Given the description of an element on the screen output the (x, y) to click on. 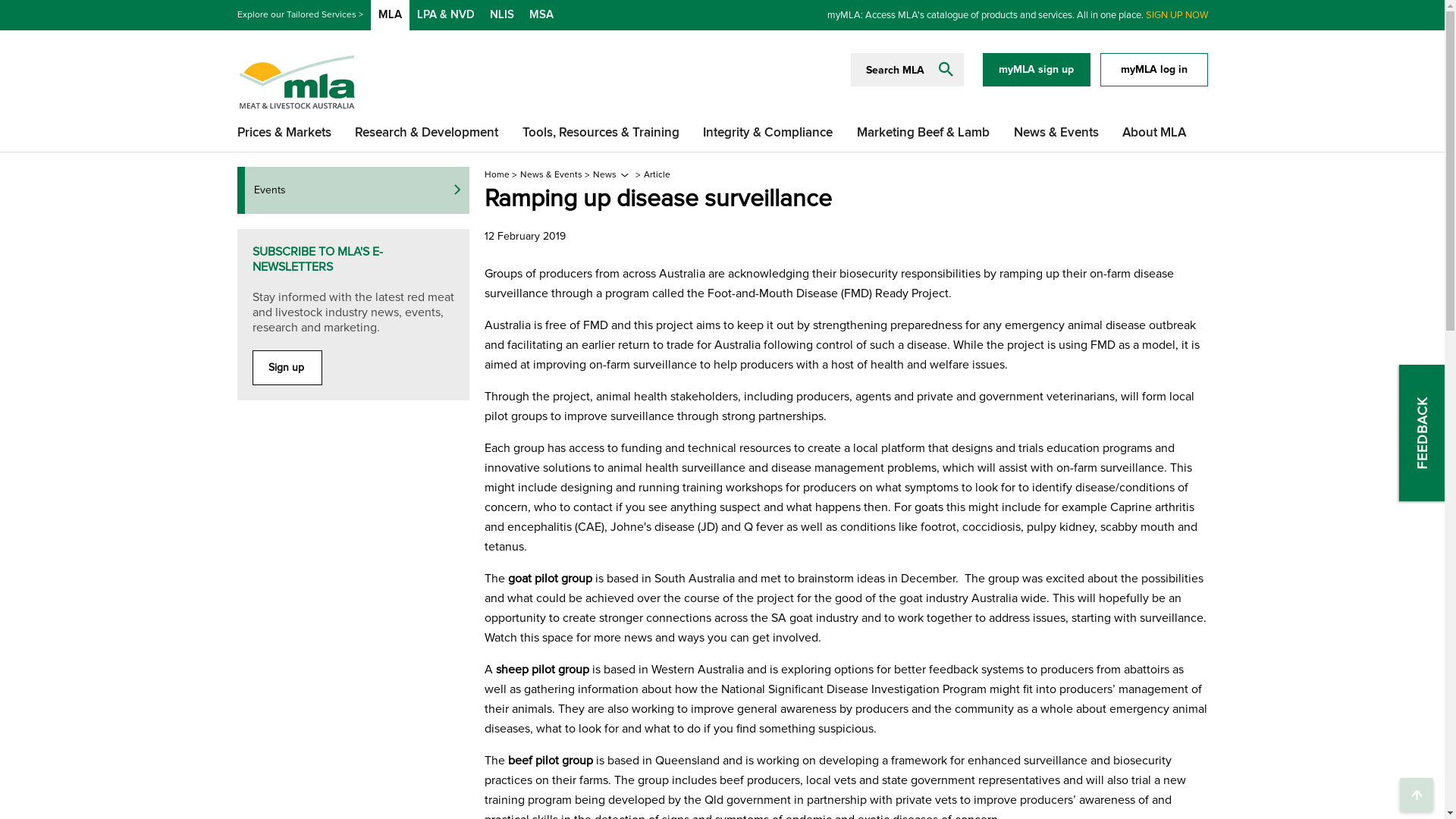
MSA Element type: text (541, 15)
Research & Development Element type: text (426, 132)
NLIS Element type: text (501, 15)
SIGN UP NOW Element type: text (1176, 15)
LPA & NVD Element type: text (445, 15)
Prices & Markets Element type: text (283, 132)
Home Element type: text (495, 174)
MLA Element type: text (389, 15)
Integrity & Compliance Element type: text (767, 132)
News Element type: text (604, 174)
Tools, Resources & Training Element type: text (600, 132)
myMLA sign up Element type: text (1036, 69)
About MLA Element type: text (1153, 132)
Marketing Beef & Lamb Element type: text (923, 132)
Events Element type: text (352, 189)
News & Events Element type: text (551, 174)
Sign up Element type: text (286, 367)
Search MLA Element type: hover (896, 69)
News & Events Element type: text (1056, 132)
myMLA log in Element type: text (1153, 69)
